Given the description of an element on the screen output the (x, y) to click on. 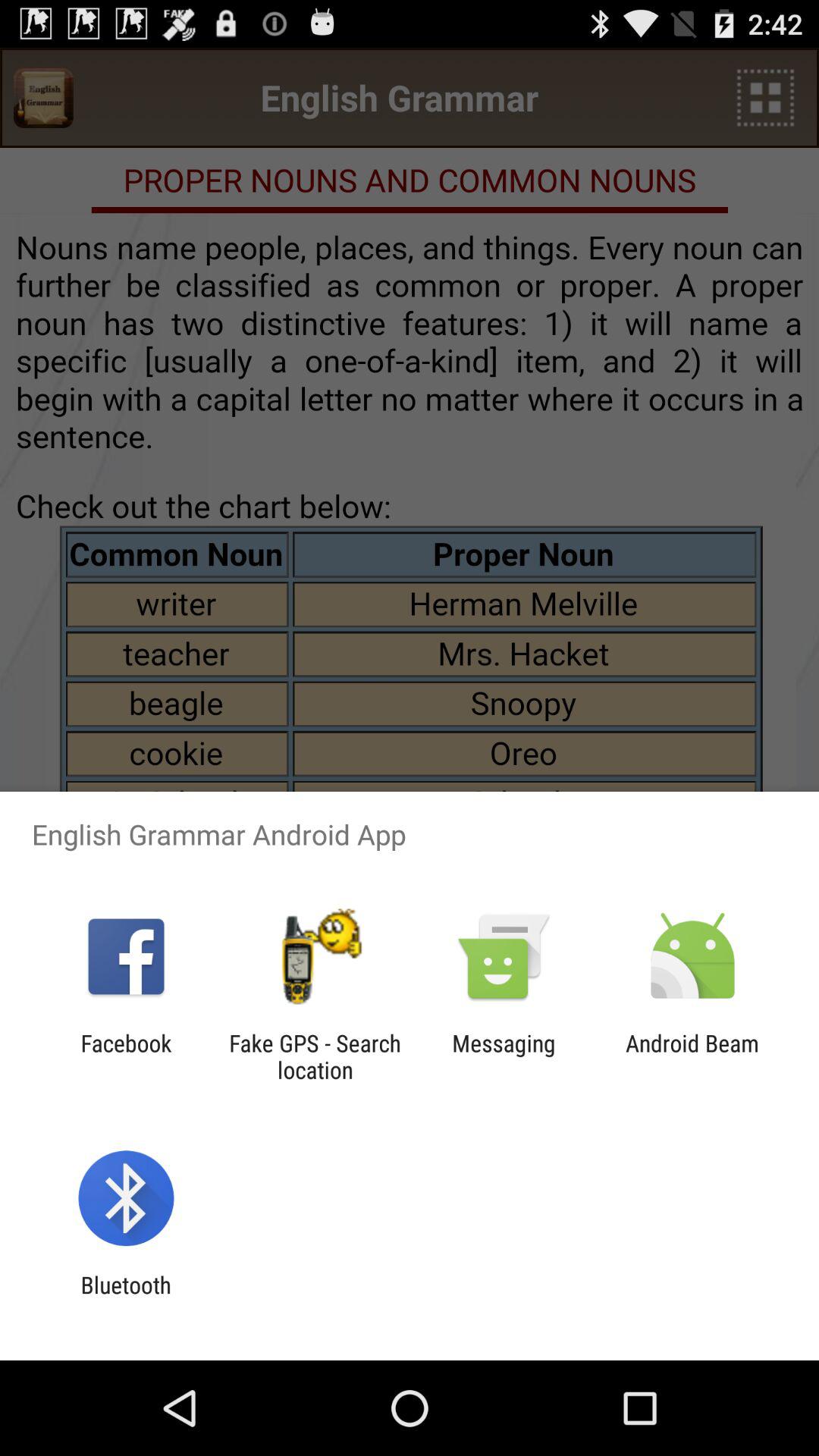
tap the item next to the fake gps search (125, 1056)
